Given the description of an element on the screen output the (x, y) to click on. 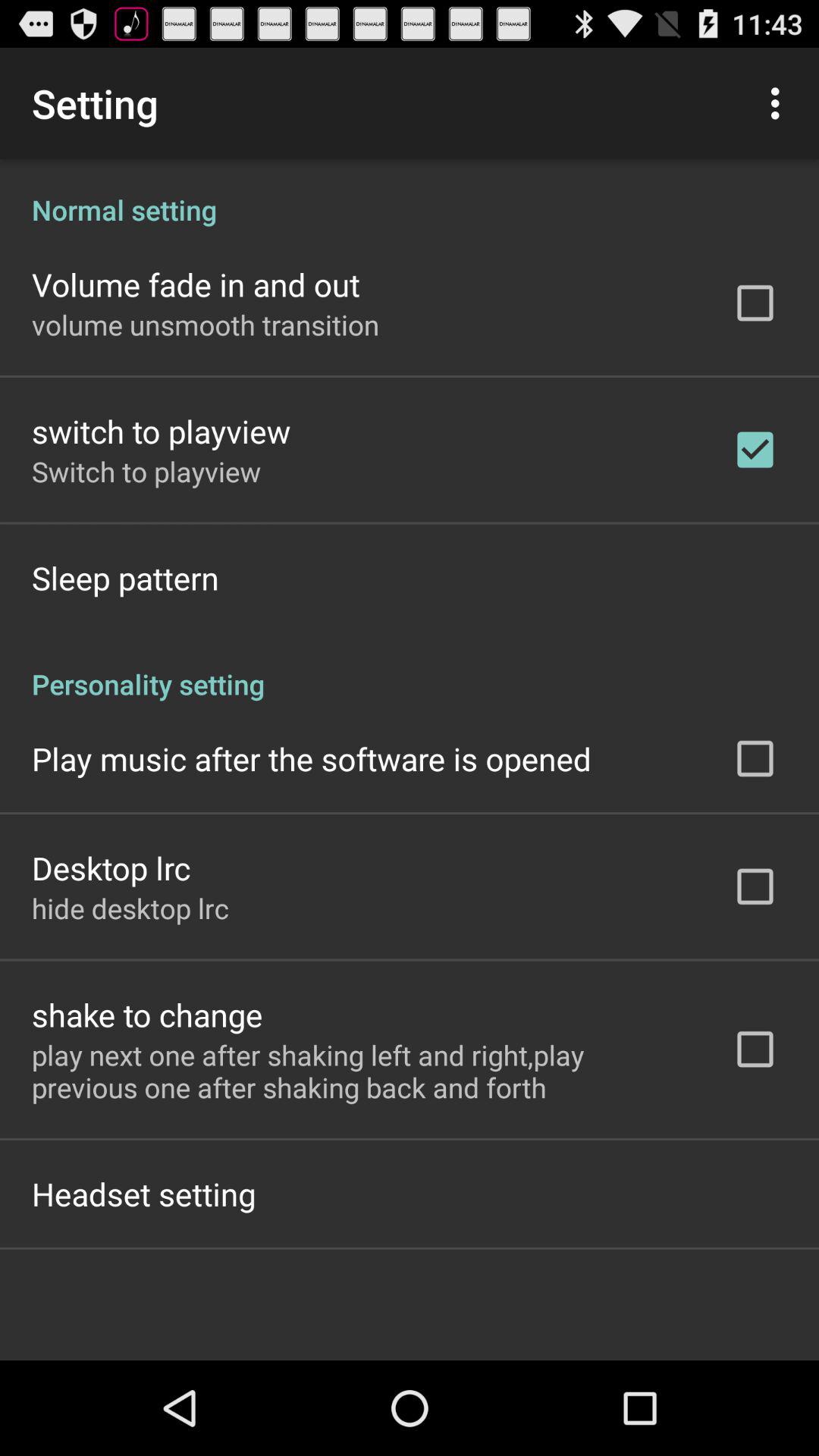
turn on the sleep pattern app (124, 577)
